Given the description of an element on the screen output the (x, y) to click on. 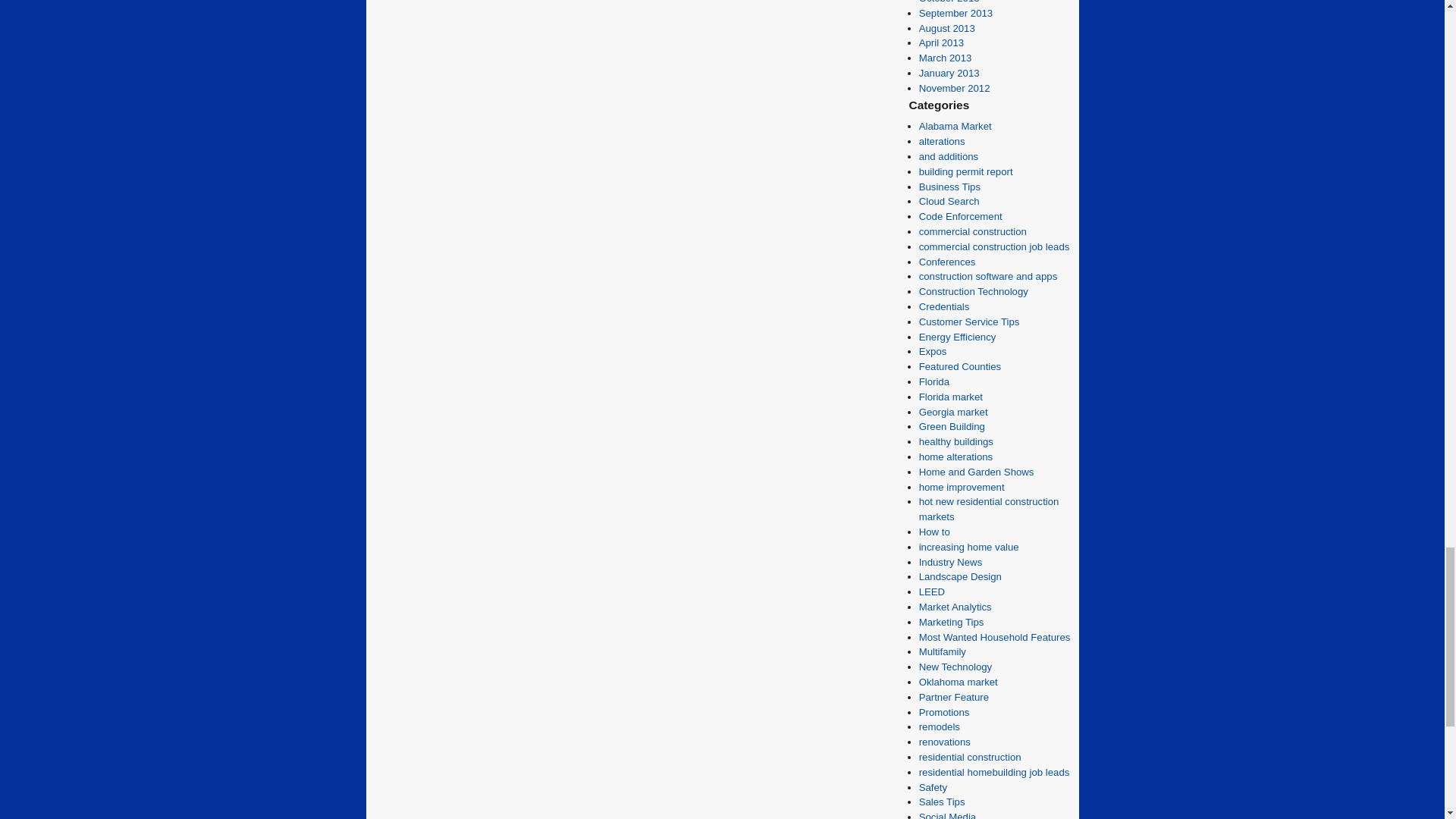
Featured County Reports  (959, 366)
The latest construction and builder industry news  (950, 562)
